Given the description of an element on the screen output the (x, y) to click on. 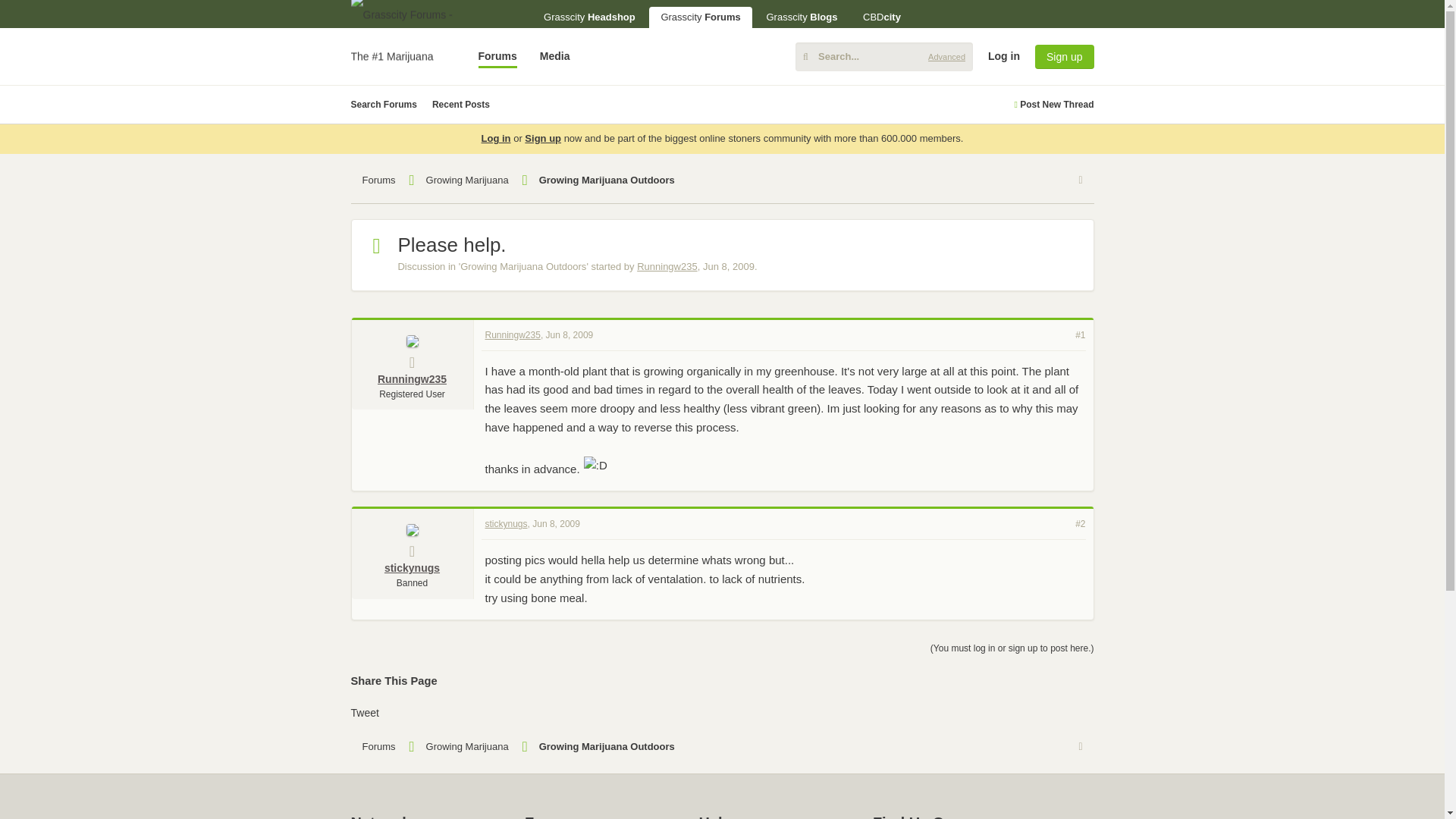
Search Forums (383, 104)
Log in (1316, 172)
Grasscity Headshop (589, 16)
Advanced (946, 56)
Sign up (1064, 56)
Media (554, 56)
Post New Thread (1053, 104)
CBDcity (881, 16)
Permalink (570, 334)
Forums (497, 56)
Enter your search and hit enter (883, 56)
Recent Posts (460, 104)
Grasscity Forums (700, 16)
Grasscity Blogs (801, 16)
Jun 8, 2009 at 12:20 AM (728, 266)
